Given the description of an element on the screen output the (x, y) to click on. 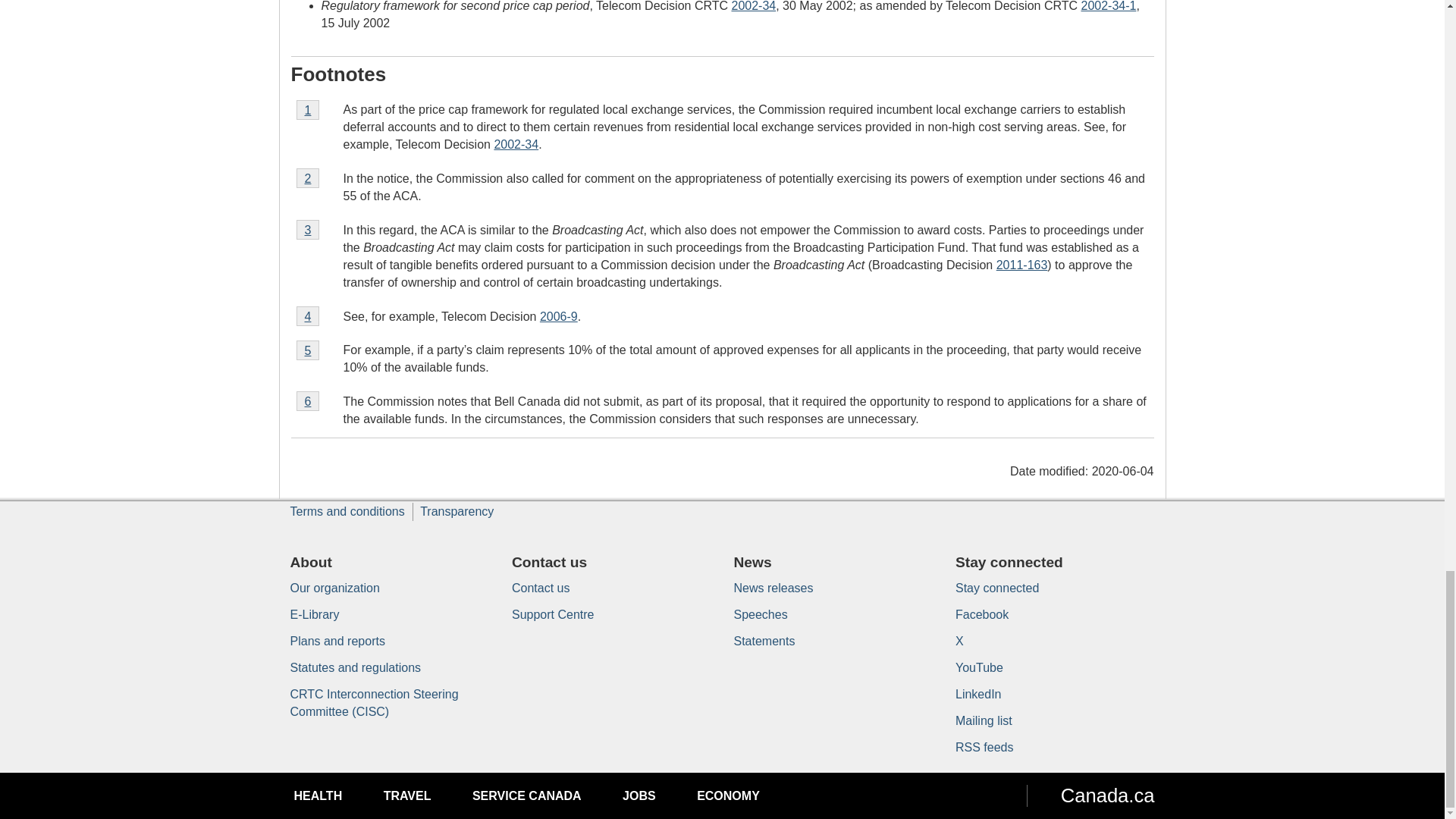
2002-34 (753, 6)
2002-34 (306, 109)
2002-34-1 (515, 144)
